Given the description of an element on the screen output the (x, y) to click on. 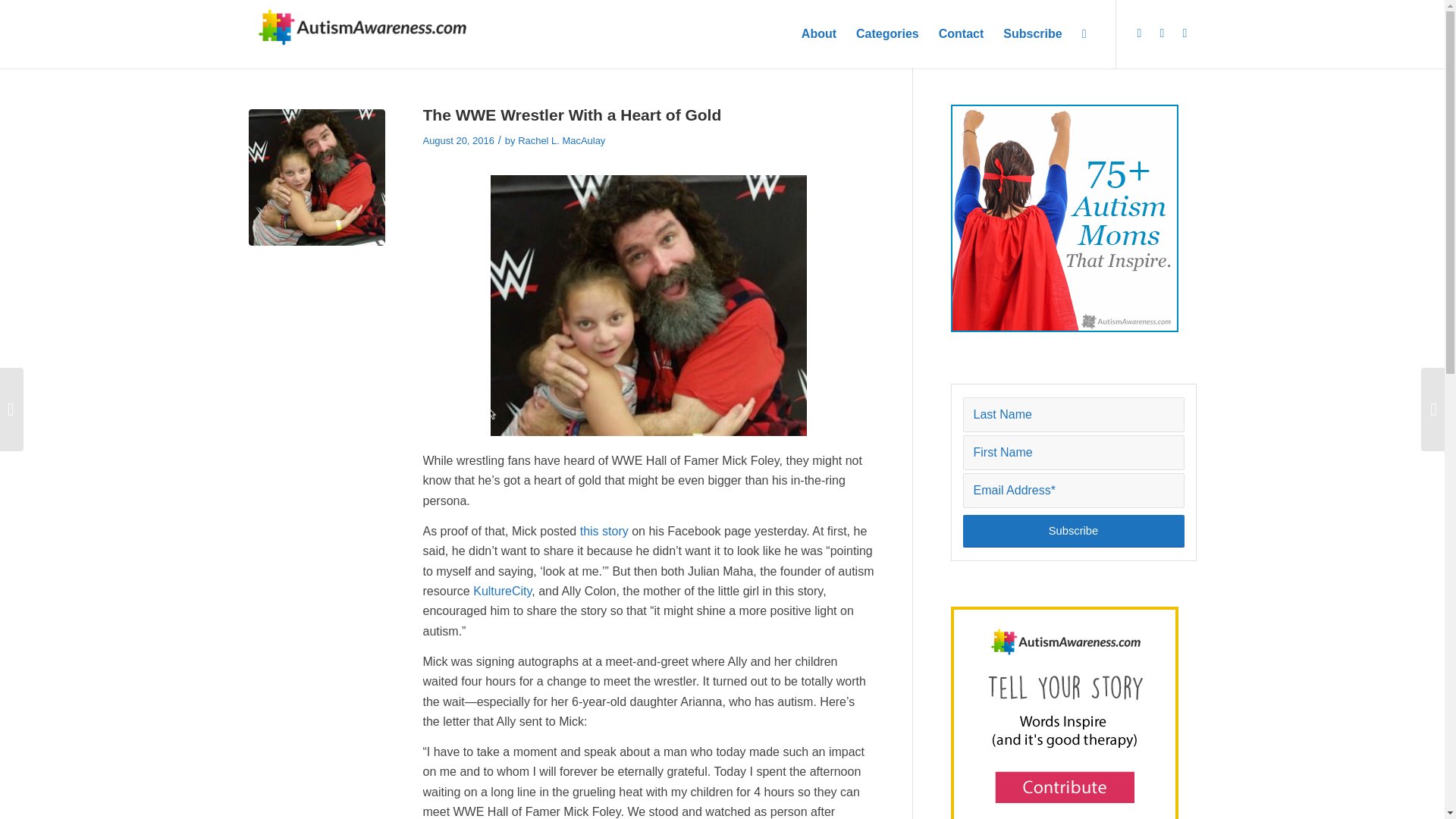
KultureCity (502, 590)
Categories (886, 33)
Subscribe (1031, 33)
Posts by Rachel L. MacAulay (561, 140)
Mick Foley (316, 176)
Twitter (1139, 33)
Rachel L. MacAulay (561, 140)
Subscribe (1073, 531)
this story (603, 530)
Contact (961, 33)
Facebook (1162, 33)
Subscribe (1073, 531)
Instagram (1184, 33)
